Given the description of an element on the screen output the (x, y) to click on. 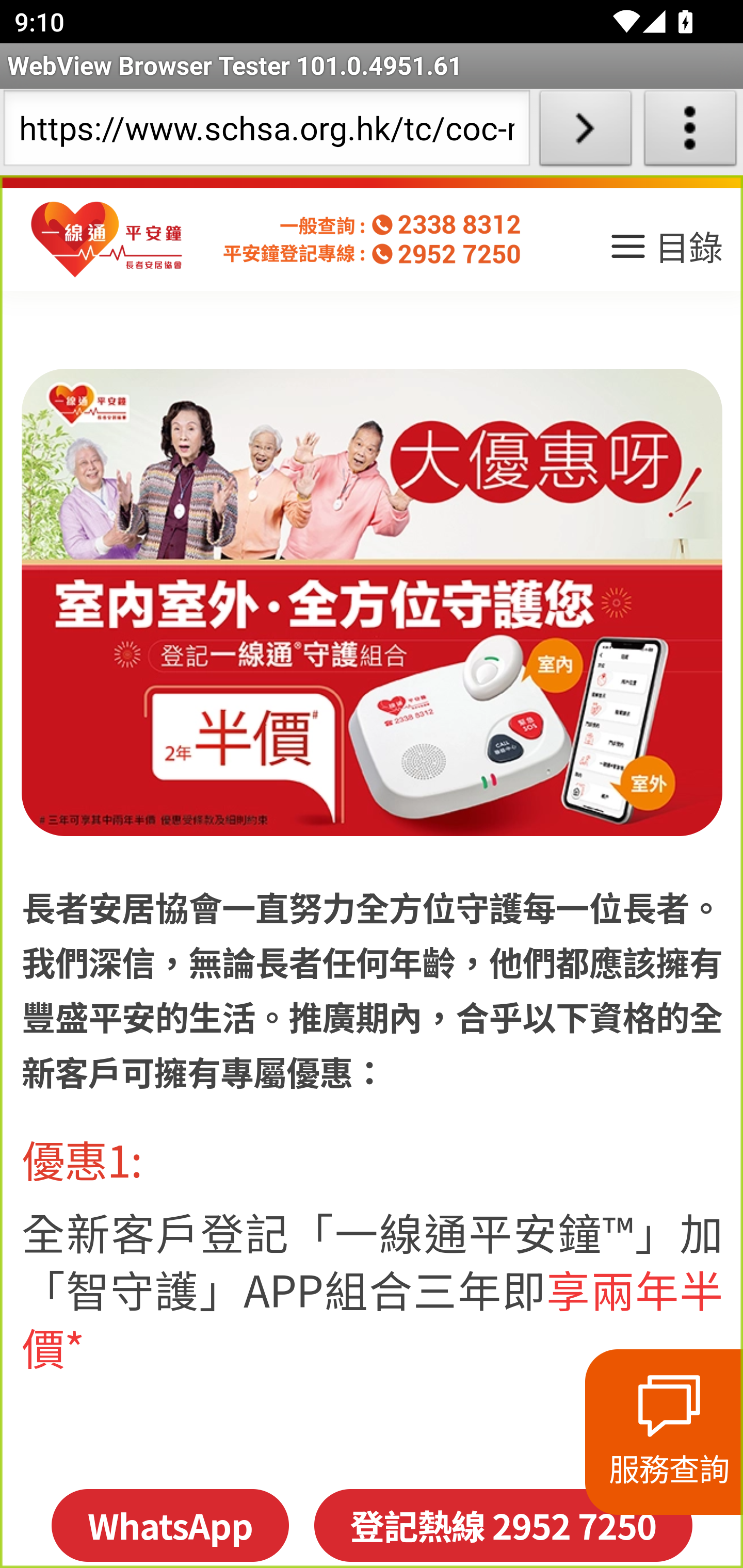
Load URL (585, 132)
About WebView (690, 132)
homepage (107, 240)
目錄 (665, 252)
服務查詢 (664, 1432)
WhatsApp (169, 1525)
登記熱線 2952 7250 (502, 1525)
